Given the description of an element on the screen output the (x, y) to click on. 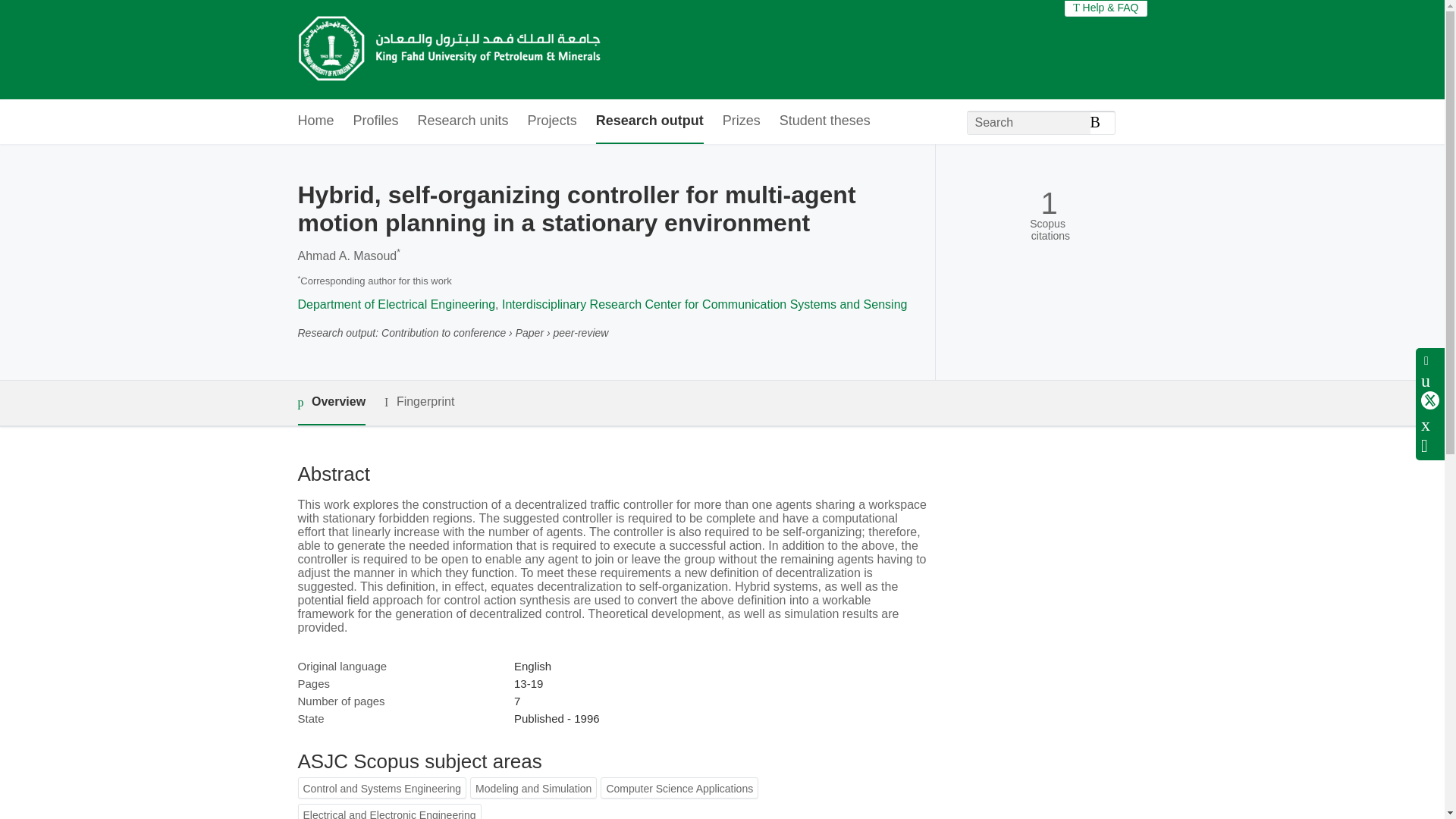
Overview (331, 402)
Fingerprint (419, 402)
Profiles (375, 121)
Department of Electrical Engineering (396, 304)
Research output (649, 121)
Research units (462, 121)
Student theses (824, 121)
Projects (551, 121)
